Given the description of an element on the screen output the (x, y) to click on. 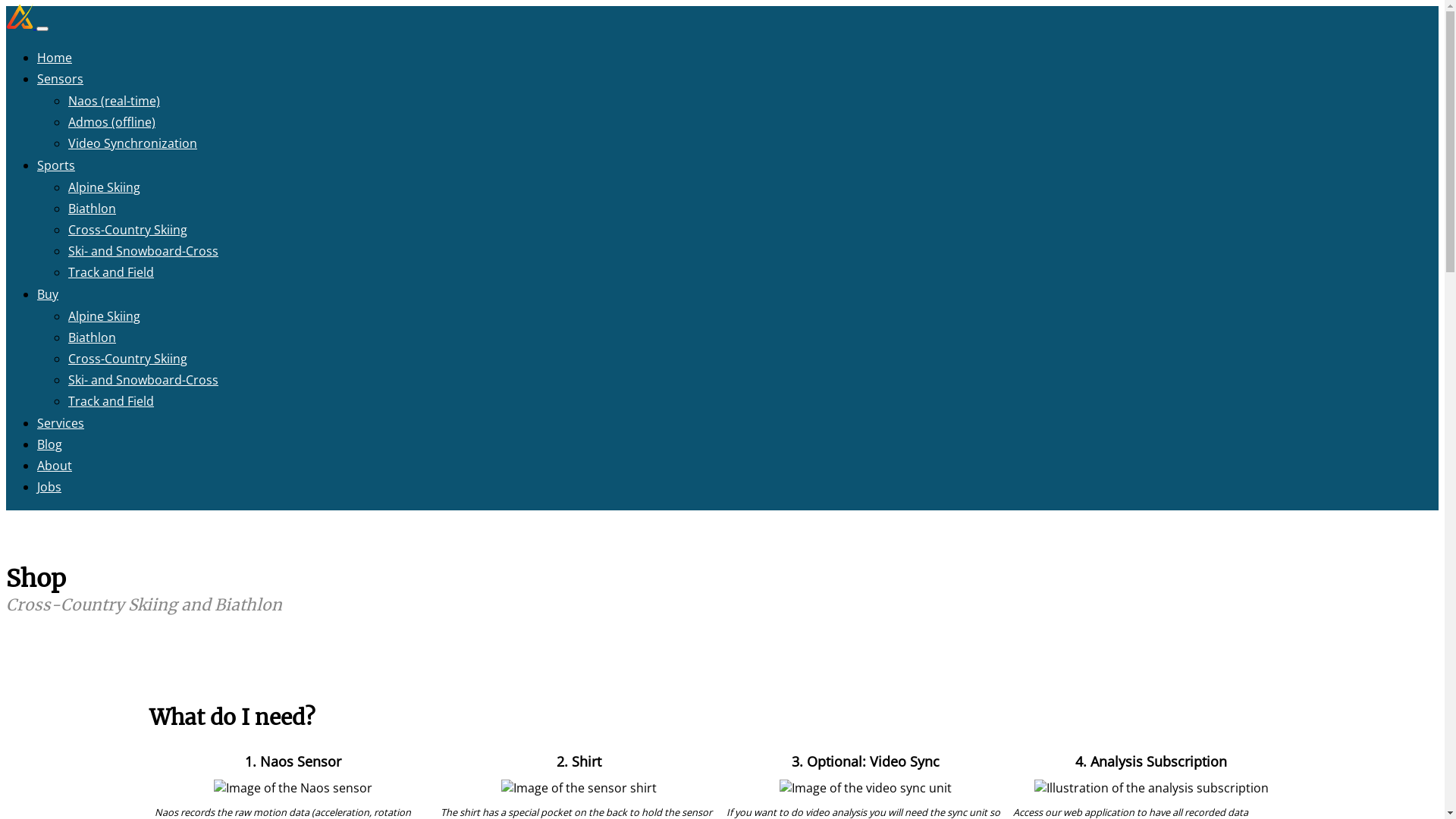
Track and Field Element type: text (110, 400)
Alpine Skiing Element type: text (104, 315)
Home Element type: text (54, 57)
Biathlon Element type: text (92, 337)
Video Synchronization Element type: text (132, 142)
Sports Element type: text (56, 164)
Ski- and Snowboard-Cross Element type: text (143, 250)
Biathlon Element type: text (92, 208)
Admos (offline) Element type: text (111, 121)
Buy Element type: text (47, 293)
Blog Element type: text (49, 444)
About Element type: text (54, 465)
Sensors Element type: text (60, 78)
Alpine Skiing Element type: text (104, 186)
Cross-Country Skiing Element type: text (127, 358)
Track and Field Element type: text (110, 271)
Services Element type: text (60, 422)
Cross-Country Skiing Element type: text (127, 229)
Jobs Element type: text (49, 486)
Ski- and Snowboard-Cross Element type: text (143, 379)
Naos (real-time) Element type: text (114, 100)
